Given the description of an element on the screen output the (x, y) to click on. 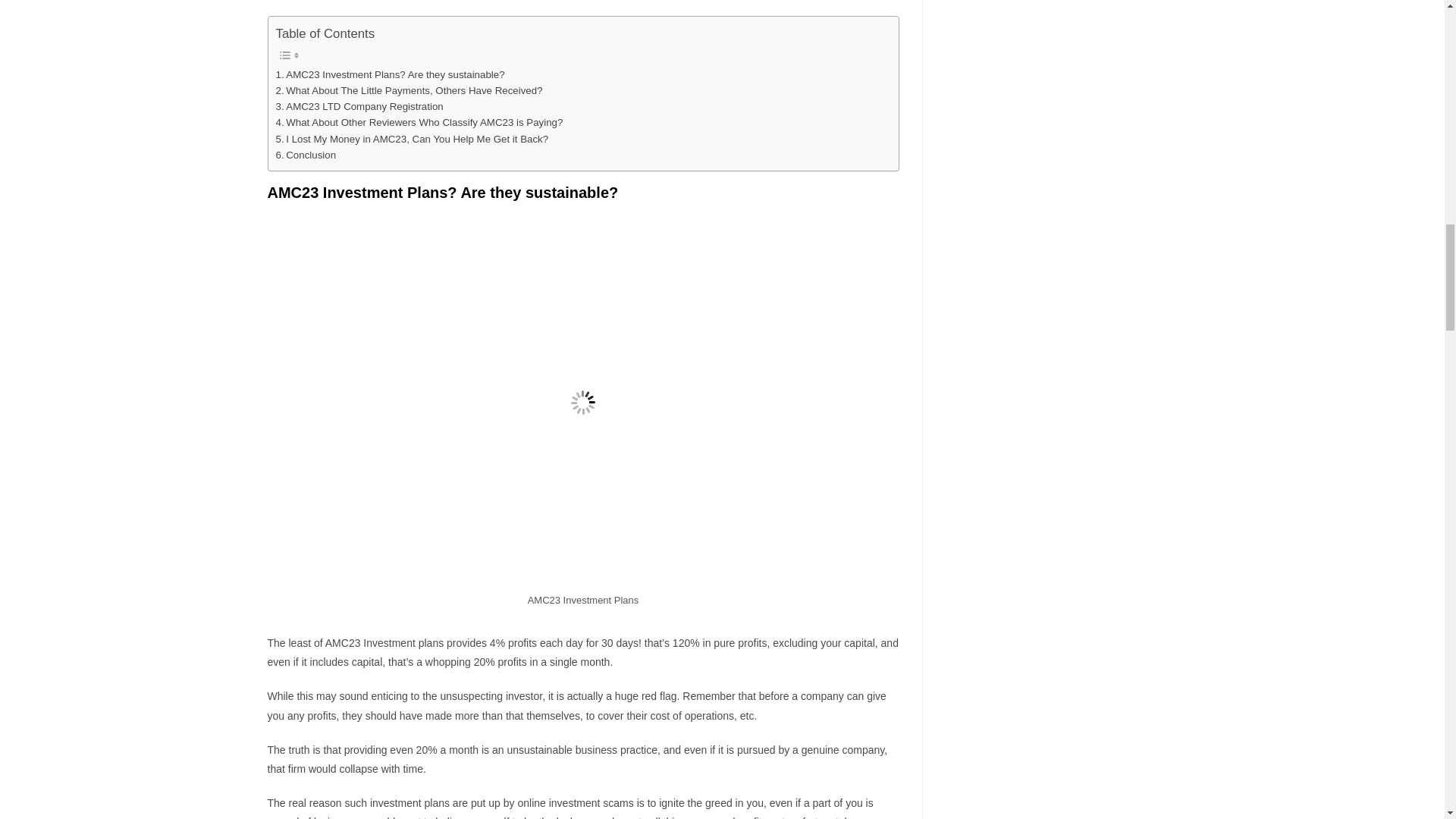
What About Other Reviewers Who Classify AMC23 is Paying? (419, 122)
What About The Little Payments, Others Have Received? (409, 90)
Conclusion (306, 154)
AMC23 Investment Plans? Are they sustainable? (390, 74)
What About Other Reviewers Who Classify AMC23 is Paying? (419, 122)
I Lost My Money in AMC23, Can You Help Me Get it Back? (412, 139)
I Lost My Money in AMC23, Can You Help Me Get it Back? (412, 139)
AMC23 Investment Plans? Are they sustainable? (390, 74)
AMC23 LTD Company Registration (360, 106)
AMC23 LTD Company Registration (360, 106)
What About The Little Payments, Others Have Received? (409, 90)
